Given the description of an element on the screen output the (x, y) to click on. 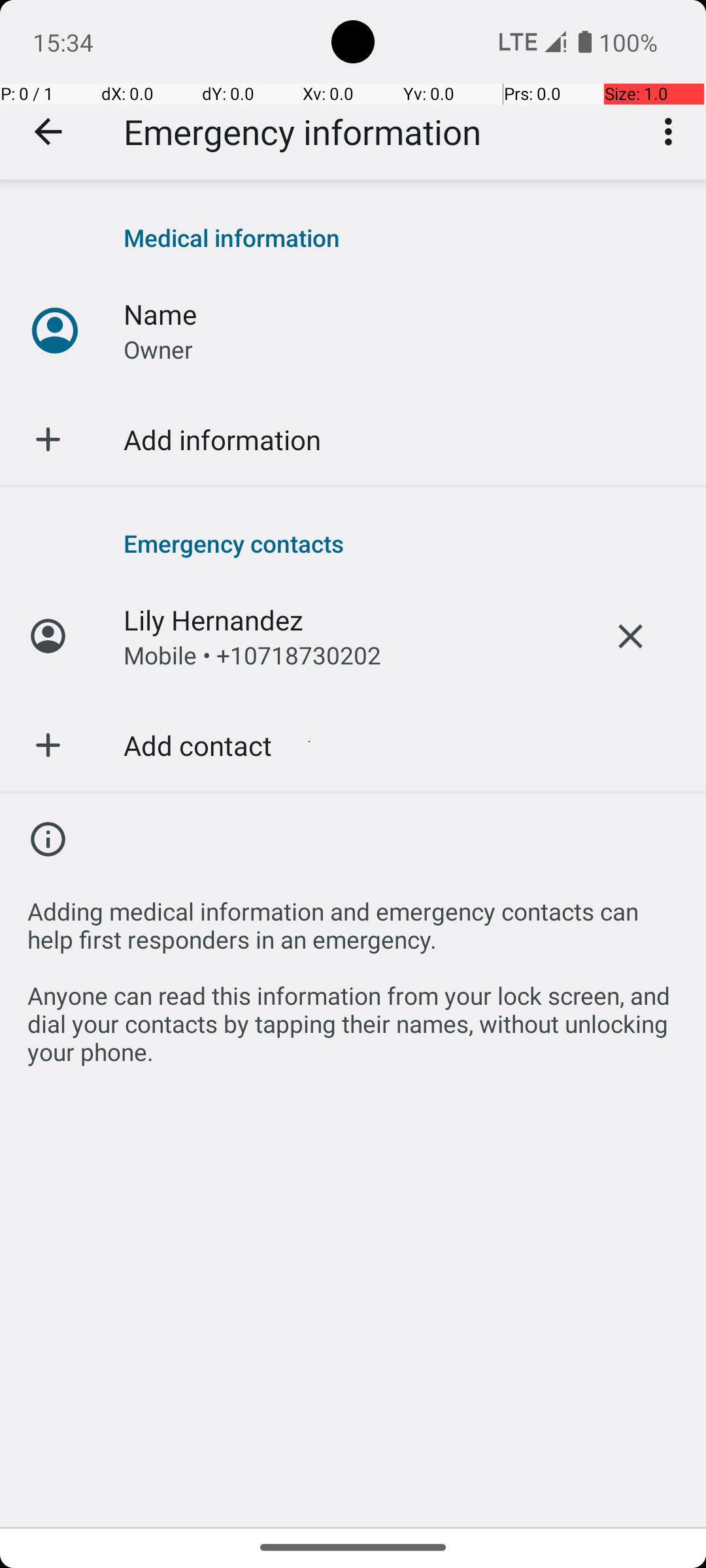
Emergency information Element type: android.widget.TextView (302, 131)
Medical information Element type: android.widget.TextView (400, 237)
Owner Element type: android.widget.TextView (157, 348)
Add information Element type: android.widget.TextView (221, 438)
Emergency contacts Element type: android.widget.TextView (400, 542)
Lily Hernandez Element type: android.widget.TextView (213, 619)
Mobile • +10718730202 Element type: android.widget.TextView (252, 654)
Remove contact Element type: android.widget.ImageView (630, 636)
Add contact Element type: android.widget.TextView (197, 744)
Adding medical information and emergency contacts can help first responders in an emergency.

Anyone can read this information from your lock screen, and dial your contacts by tapping their names, without unlocking your phone. Element type: android.widget.TextView (352, 973)
